Given the description of an element on the screen output the (x, y) to click on. 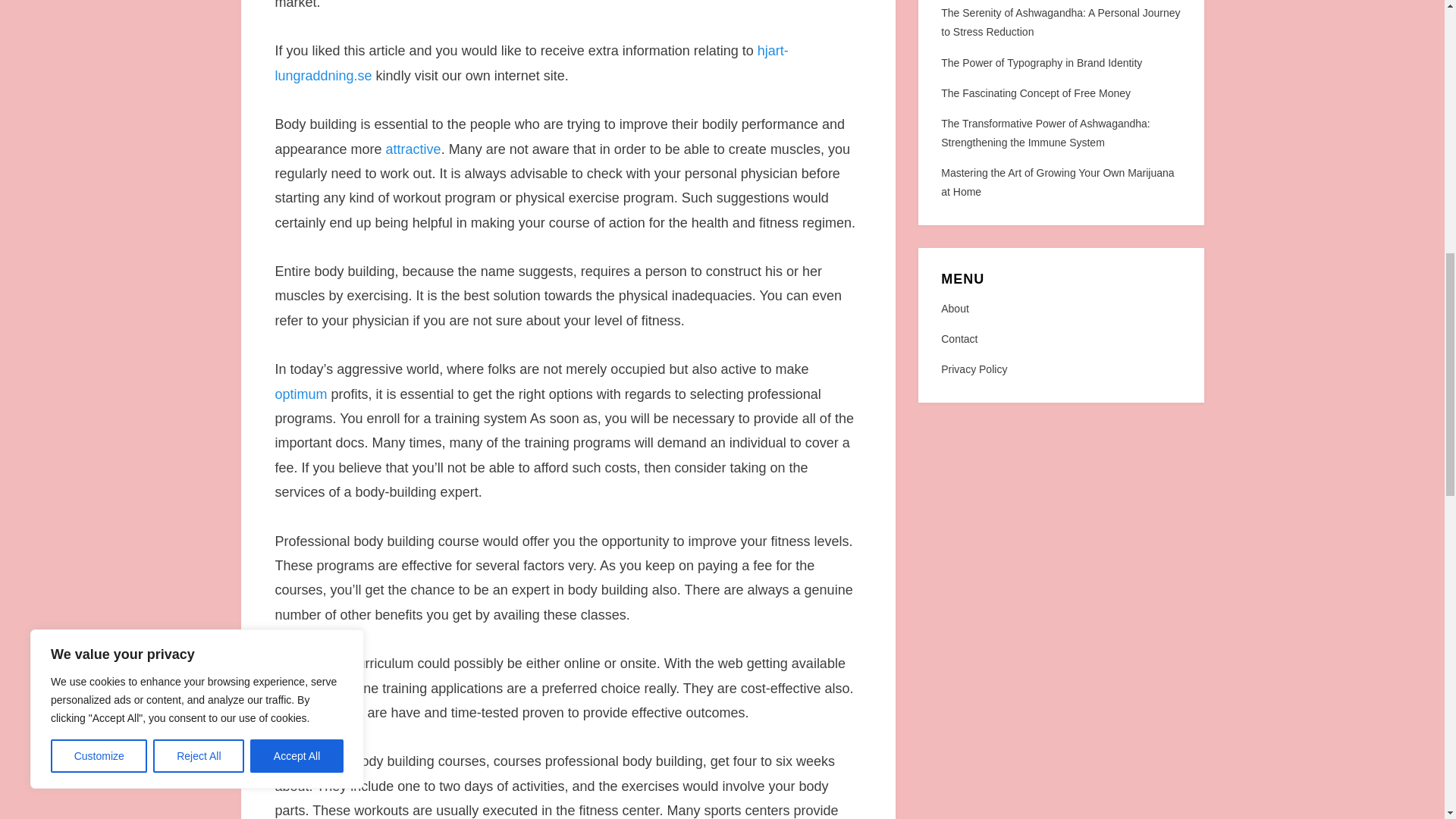
optimum (300, 394)
hjart-lungraddning.se (531, 62)
attractive (413, 149)
